Given the description of an element on the screen output the (x, y) to click on. 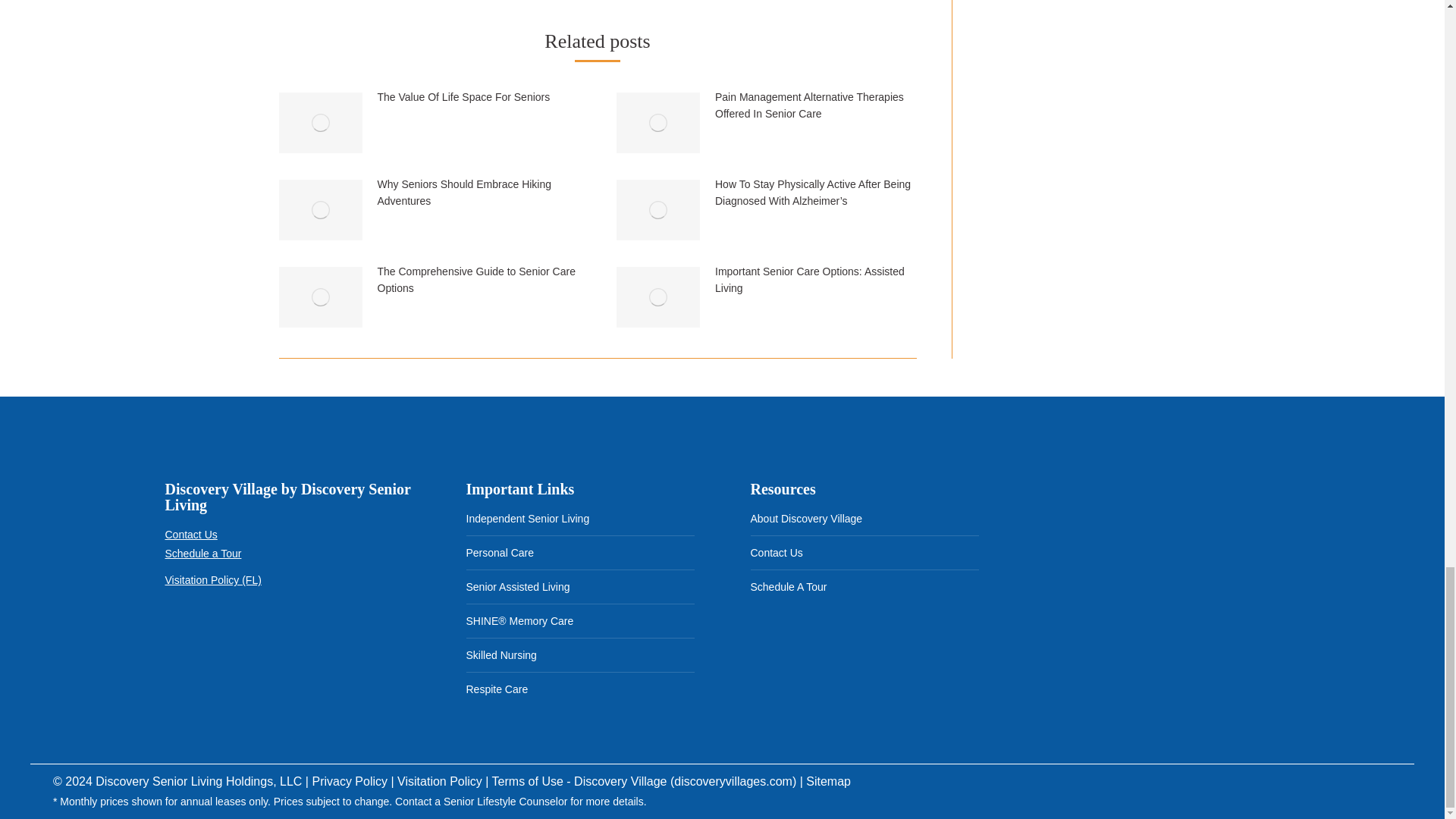
Equal-Housing-Opportunity-logo222 (189, 638)
Equal-Housing-Opportunity-logo22-150x144 (259, 639)
Discovery Map (1148, 567)
